Given the description of an element on the screen output the (x, y) to click on. 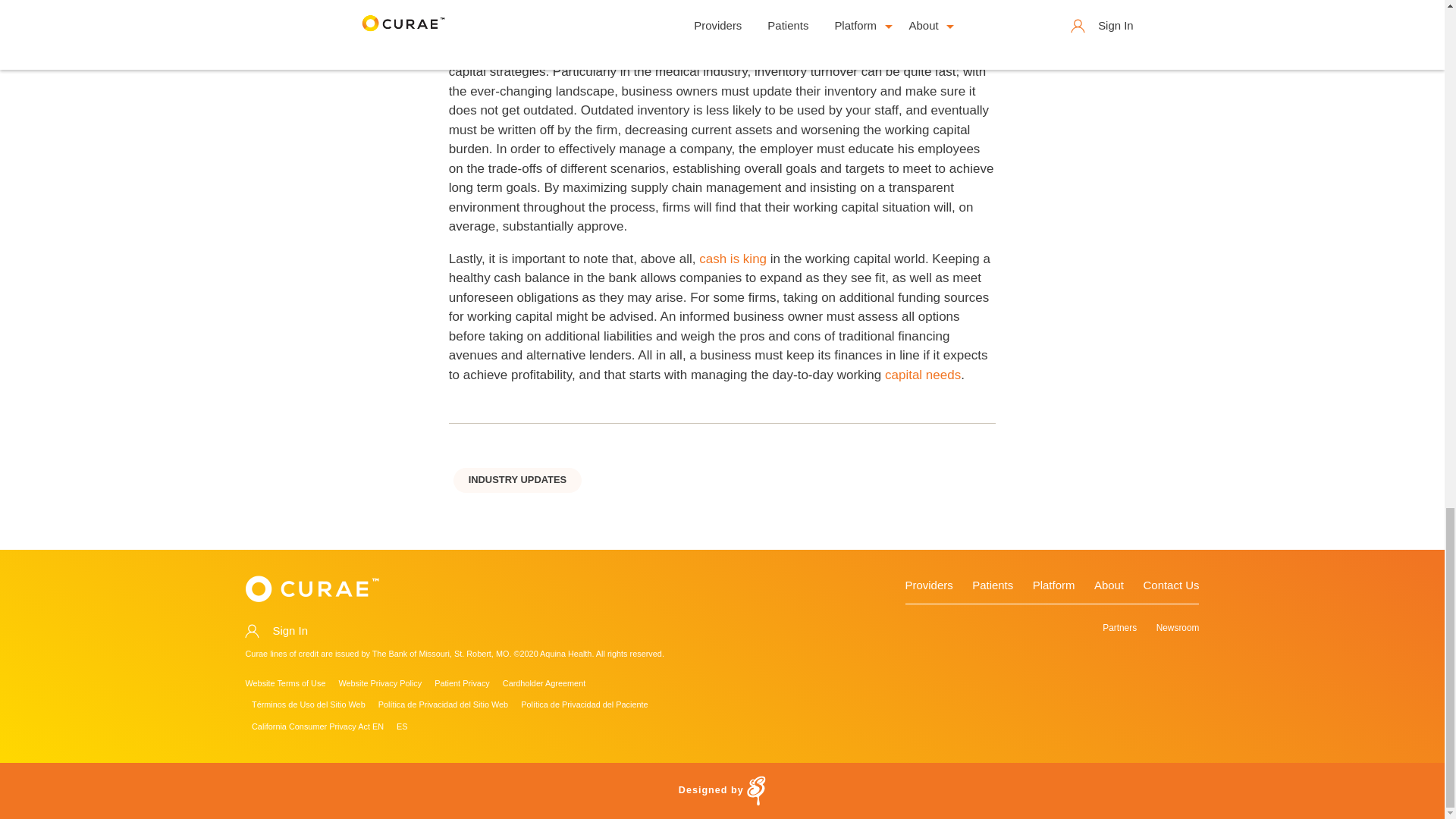
cash is king (732, 258)
capital needs (922, 374)
INDUSTRY UPDATES (516, 480)
